Given the description of an element on the screen output the (x, y) to click on. 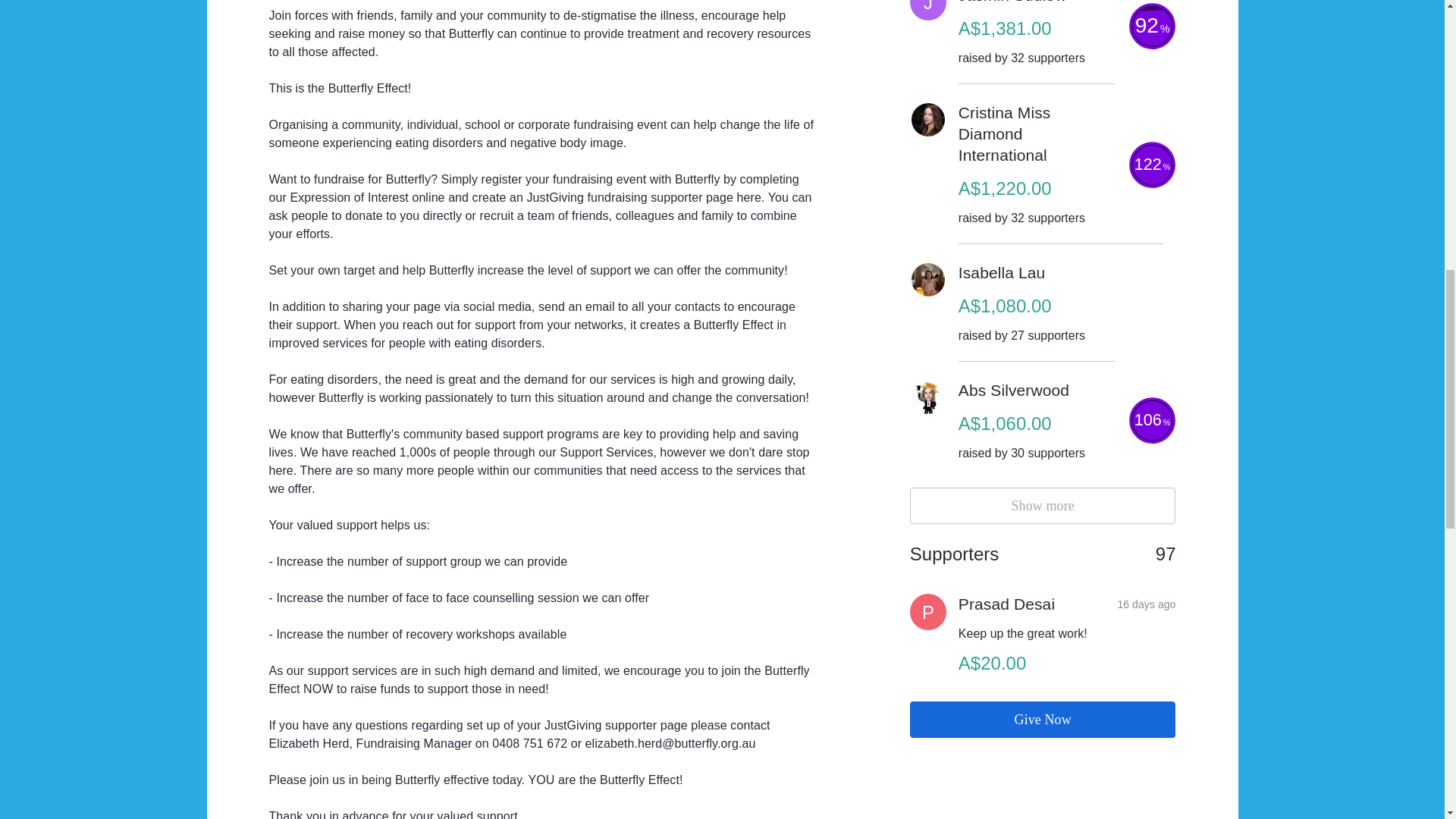
Cristina Miss Diamond International (1036, 134)
Give Now (1043, 505)
Abs Silverwood (1043, 719)
Isabella Lau (1013, 390)
Jasmin Sudlow (1001, 272)
P (1012, 2)
J (928, 611)
